Given the description of an element on the screen output the (x, y) to click on. 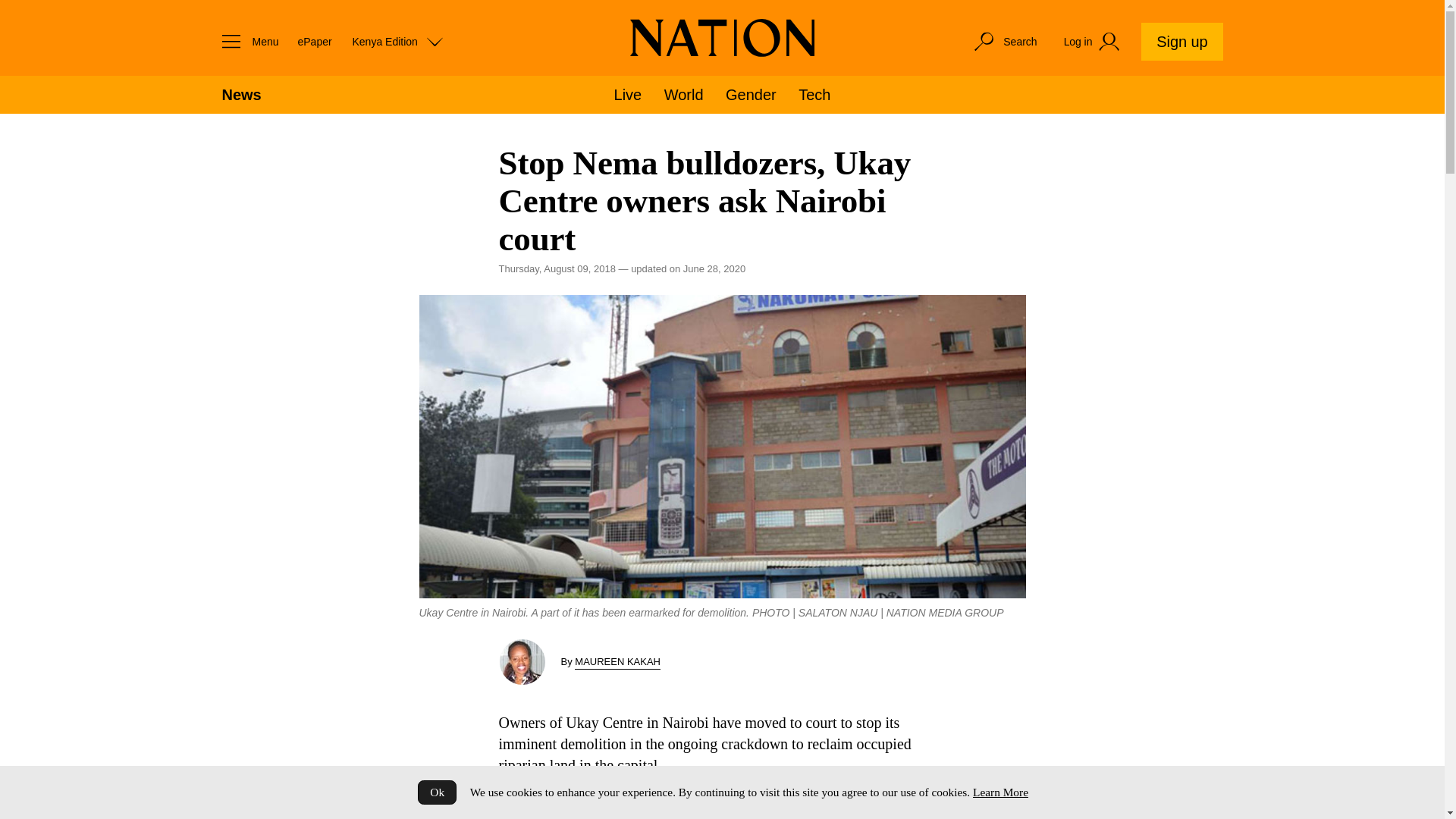
World (683, 94)
Menu (246, 41)
Live (628, 94)
Kenya Edition (398, 41)
Gender (750, 94)
Log in (1094, 41)
Search (1003, 41)
Tech (813, 94)
ePaper (314, 41)
News (240, 94)
Sign up (1182, 41)
Learn More (999, 791)
Learn More (999, 791)
Ok (437, 792)
